Given the description of an element on the screen output the (x, y) to click on. 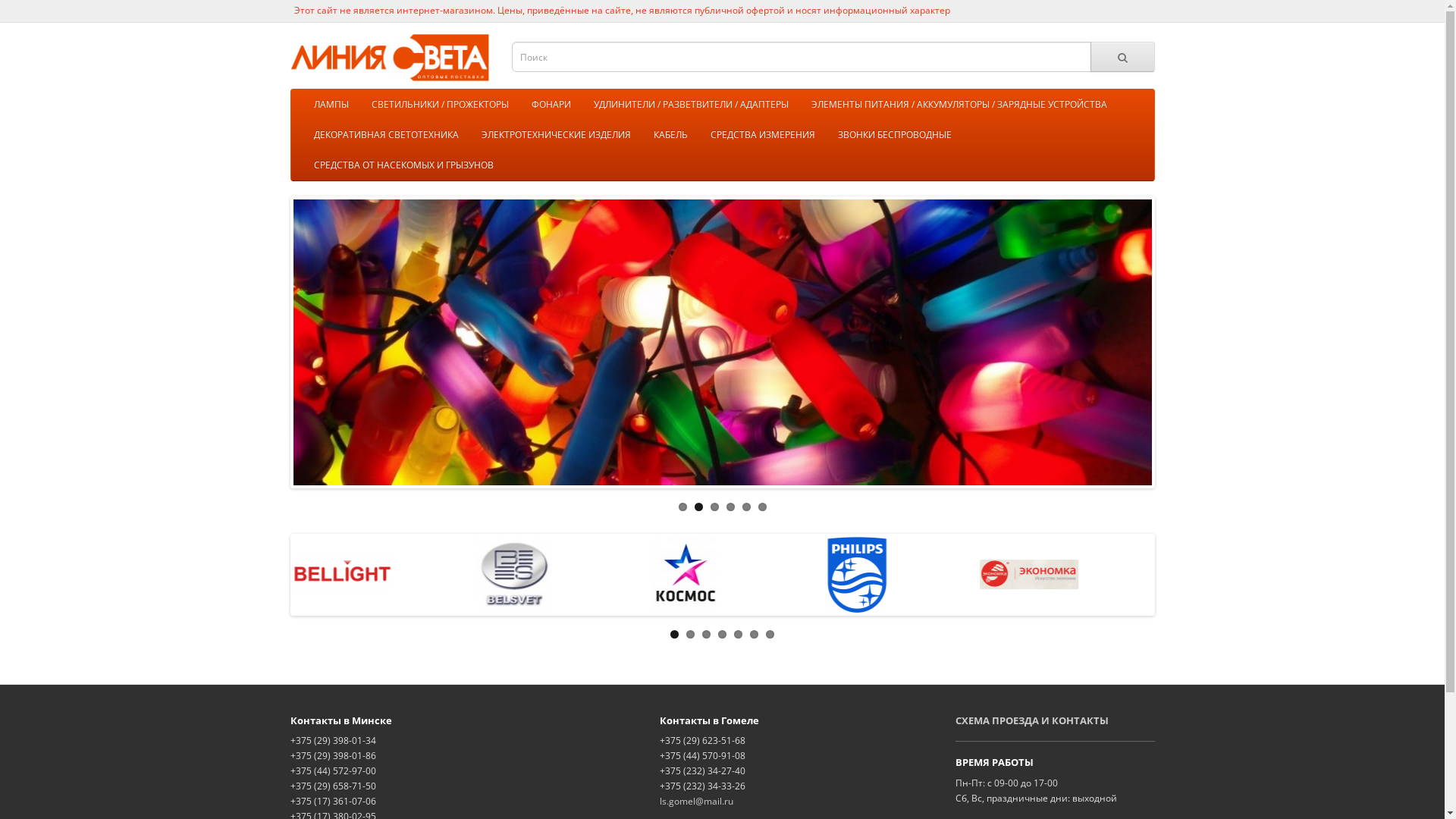
ls.gomel@mail.ru Element type: text (696, 800)
optsnab.by Element type: hover (389, 57)
